Given the description of an element on the screen output the (x, y) to click on. 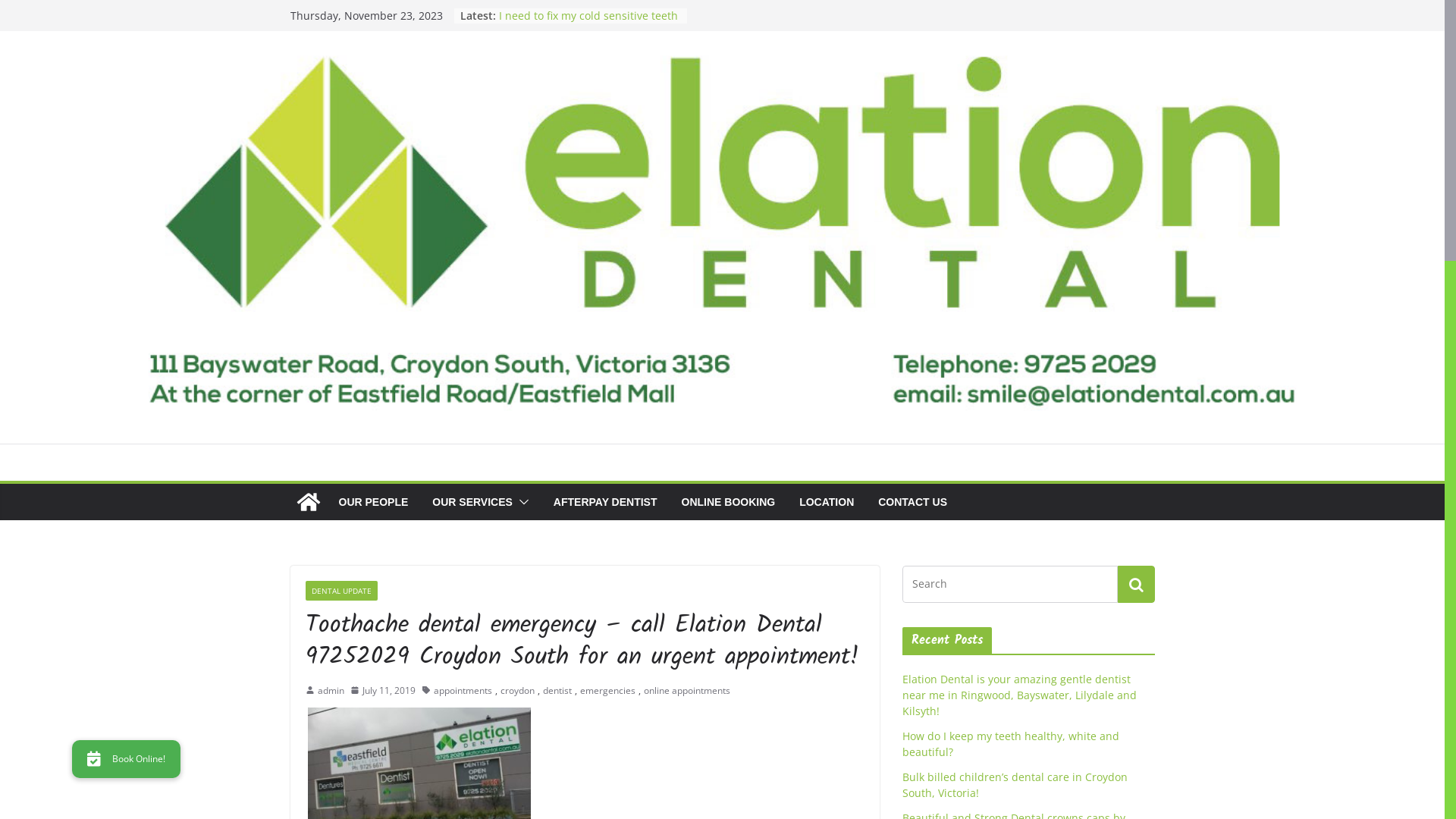
OUR SERVICES Element type: text (472, 501)
croydon Element type: text (517, 690)
LOCATION Element type: text (826, 501)
ONLINE BOOKING Element type: text (727, 501)
dentist Element type: text (556, 690)
DENTAL UPDATE Element type: text (340, 590)
emergencies Element type: text (606, 690)
appointments Element type: text (462, 690)
online appointments Element type: text (686, 690)
admin Element type: text (329, 690)
July 11, 2019 Element type: text (382, 690)
OUR PEOPLE Element type: text (372, 501)
AFTERPAY DENTIST Element type: text (605, 501)
CONTACT US Element type: text (912, 501)
How do I keep my teeth healthy, white and beautiful? Element type: text (1010, 743)
Book Online! Element type: text (126, 759)
